Given the description of an element on the screen output the (x, y) to click on. 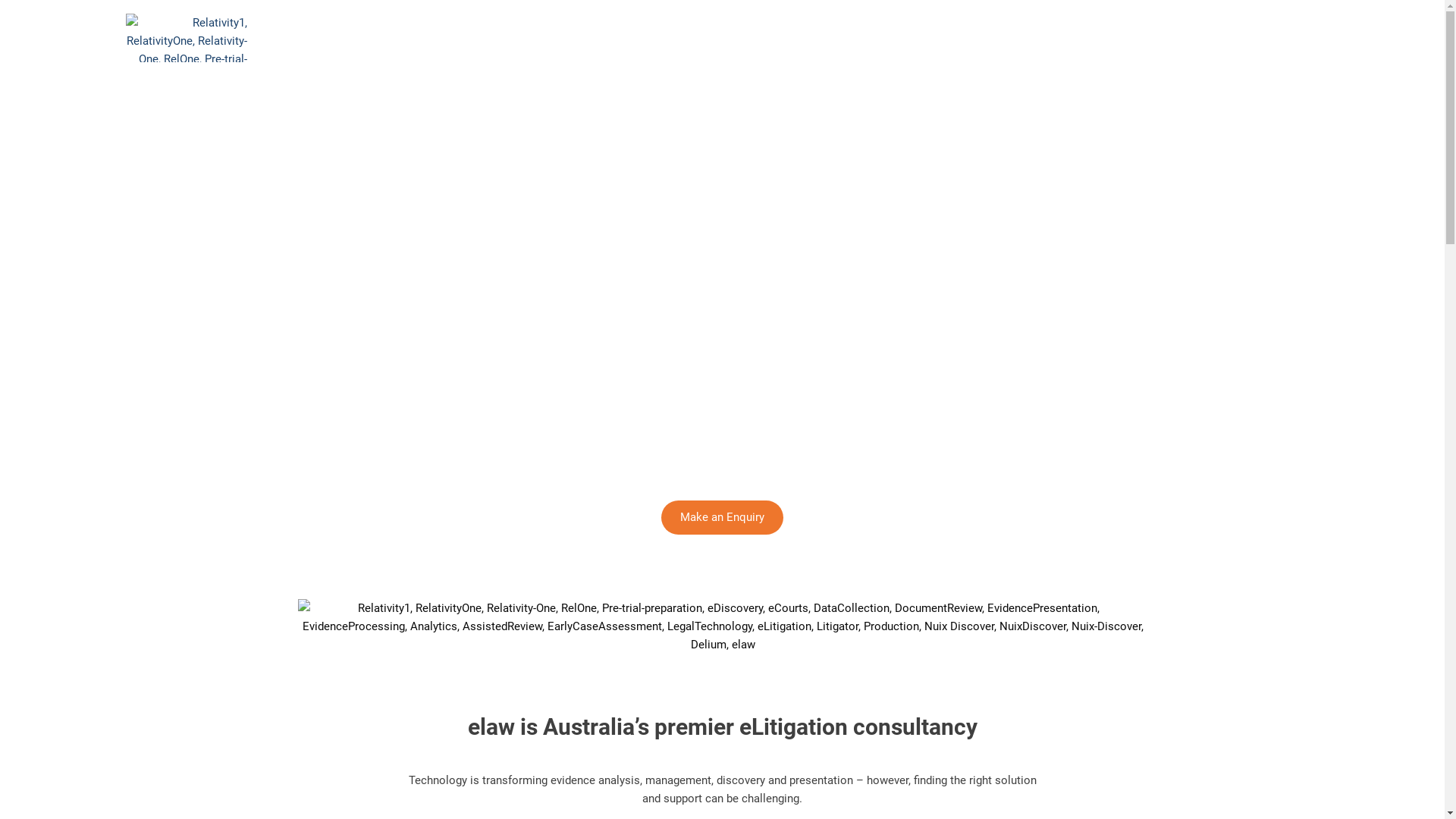
News Element type: text (945, 37)
Make an Enquiry Element type: text (722, 517)
eDiscovery Element type: text (726, 37)
Contact Us Element type: text (1089, 37)
Ostentus Element type: text (878, 37)
info@elaw.com.au Element type: text (1301, 37)
Insights Element type: text (1010, 37)
1300 30 30 80 Element type: text (1186, 37)
About Us Element type: text (644, 37)
Skip to content Element type: text (0, 0)
eCourts Element type: text (805, 37)
